Given the description of an element on the screen output the (x, y) to click on. 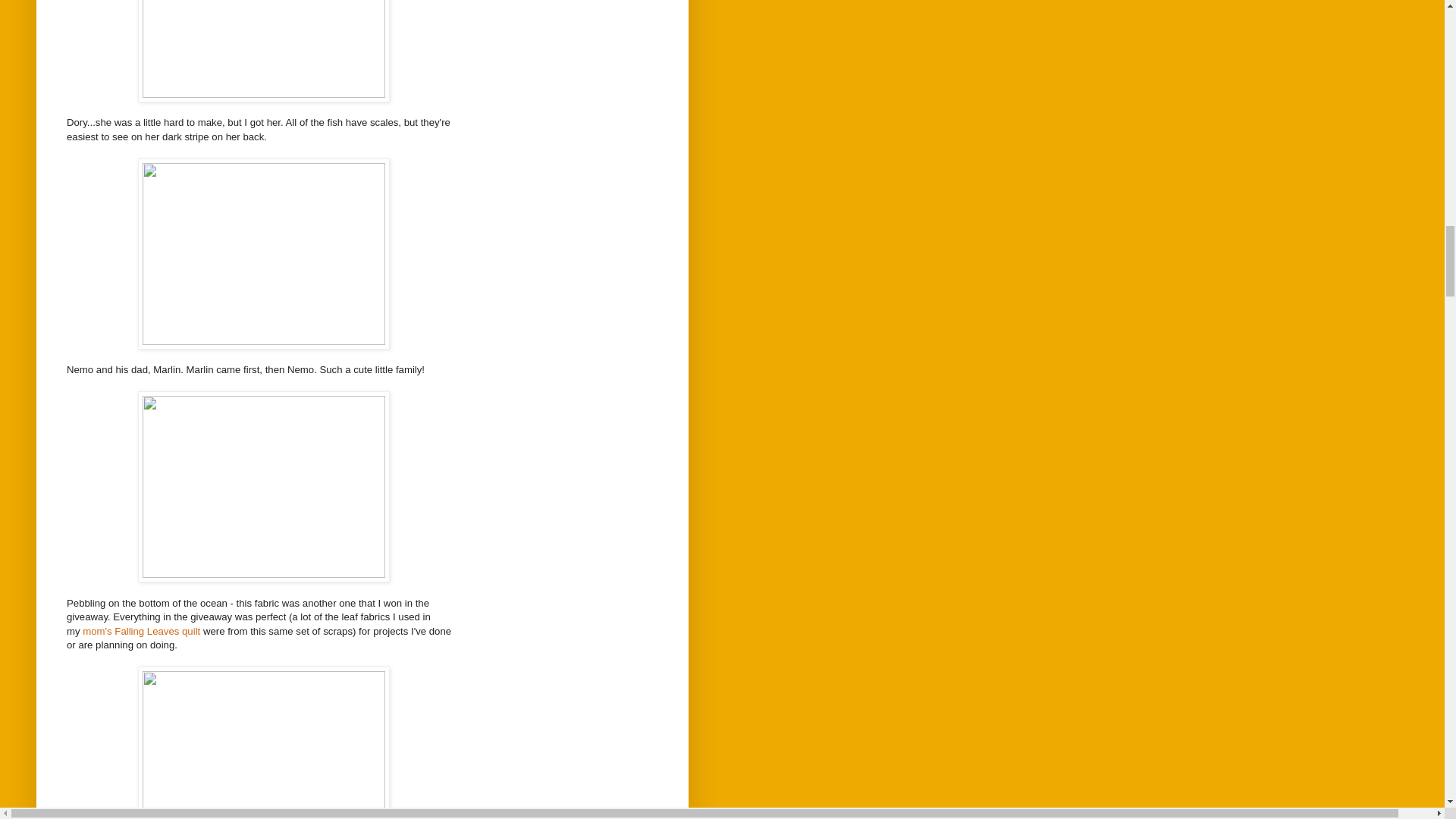
mom's Falling Leaves quilt (141, 631)
